Given the description of an element on the screen output the (x, y) to click on. 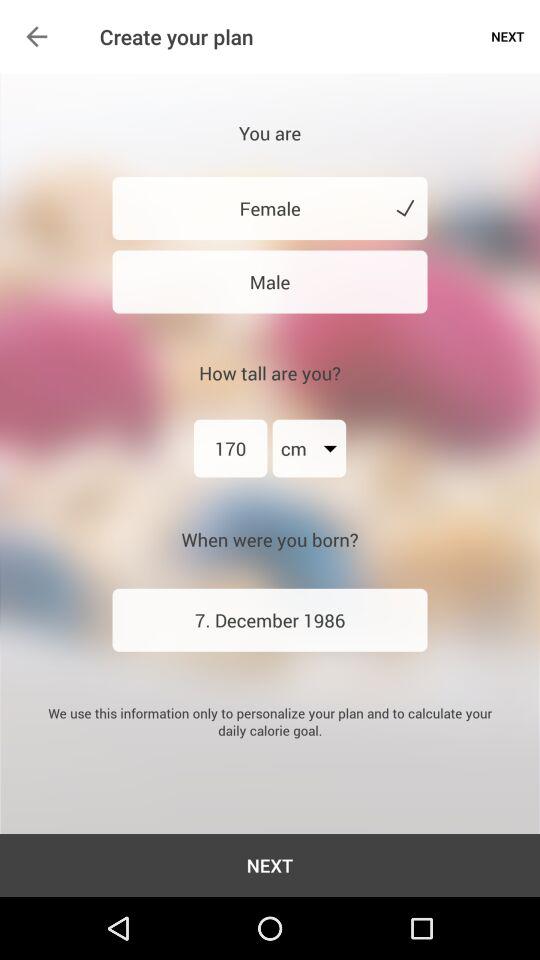
jump until 7. december 1986 item (269, 619)
